Given the description of an element on the screen output the (x, y) to click on. 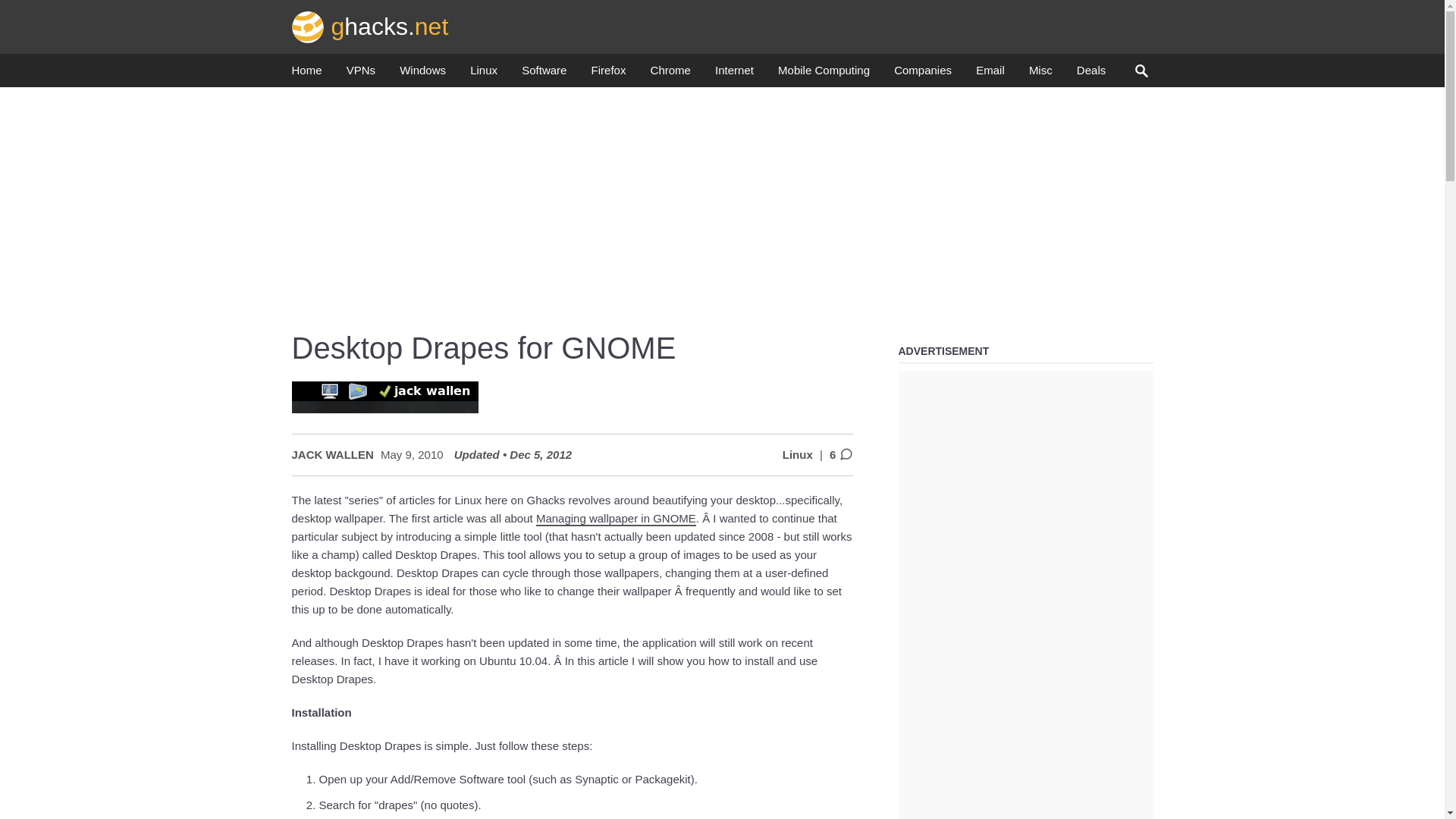
Windows (421, 73)
Email (989, 73)
Home (306, 73)
Companies (922, 73)
Managing wallpaper in GNOME (615, 518)
Deals (1091, 73)
Firefox (608, 73)
ghacks.net (369, 26)
Internet (734, 73)
Chrome (670, 73)
